Given the description of an element on the screen output the (x, y) to click on. 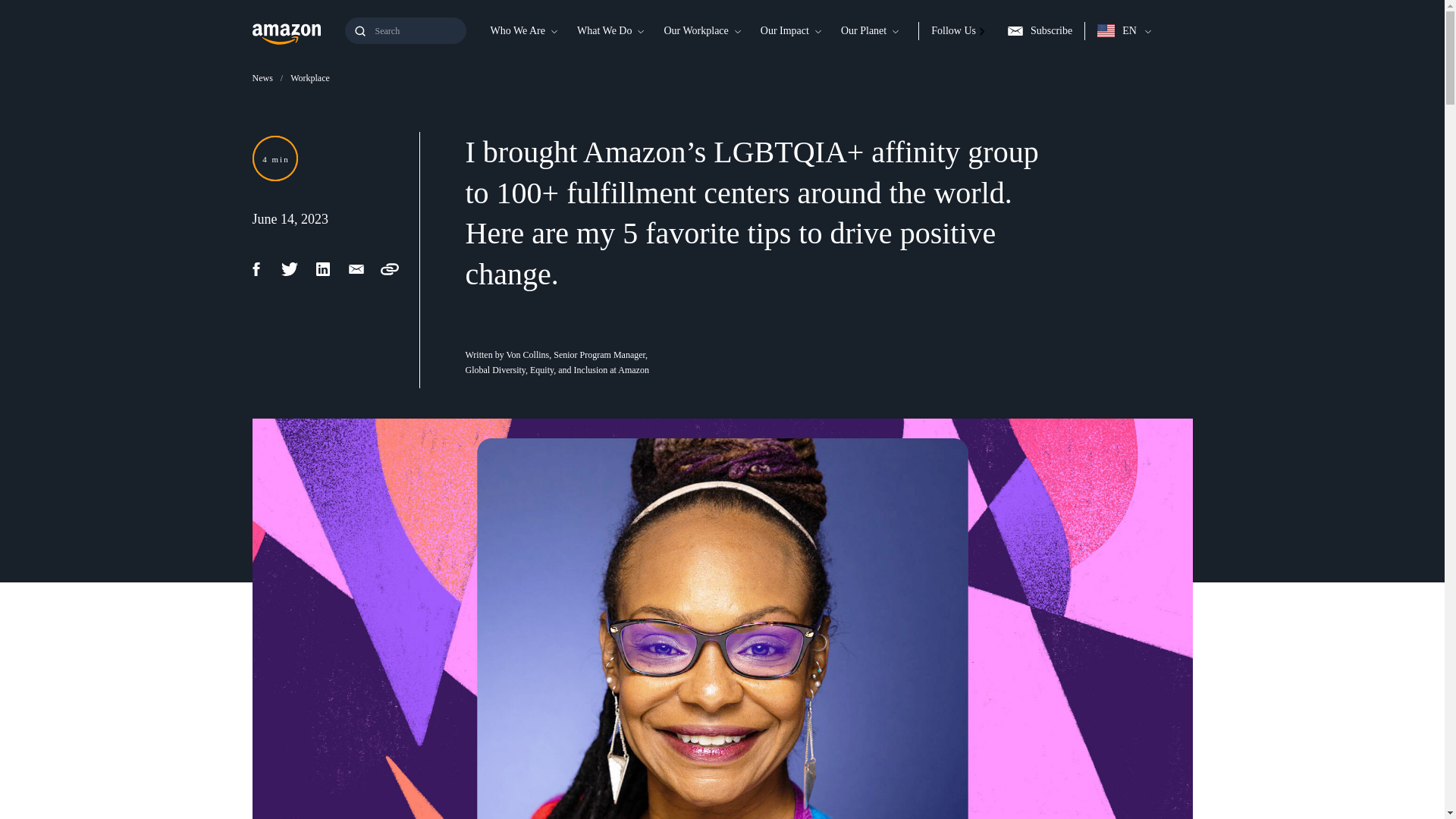
Who We Are (516, 30)
email (363, 269)
Our Workplace (694, 30)
Our Impact (784, 30)
Twitter Share (297, 269)
LinkedIn Share (330, 269)
Facebook Share (264, 269)
copy link (396, 269)
What We Do (603, 30)
